Given the description of an element on the screen output the (x, y) to click on. 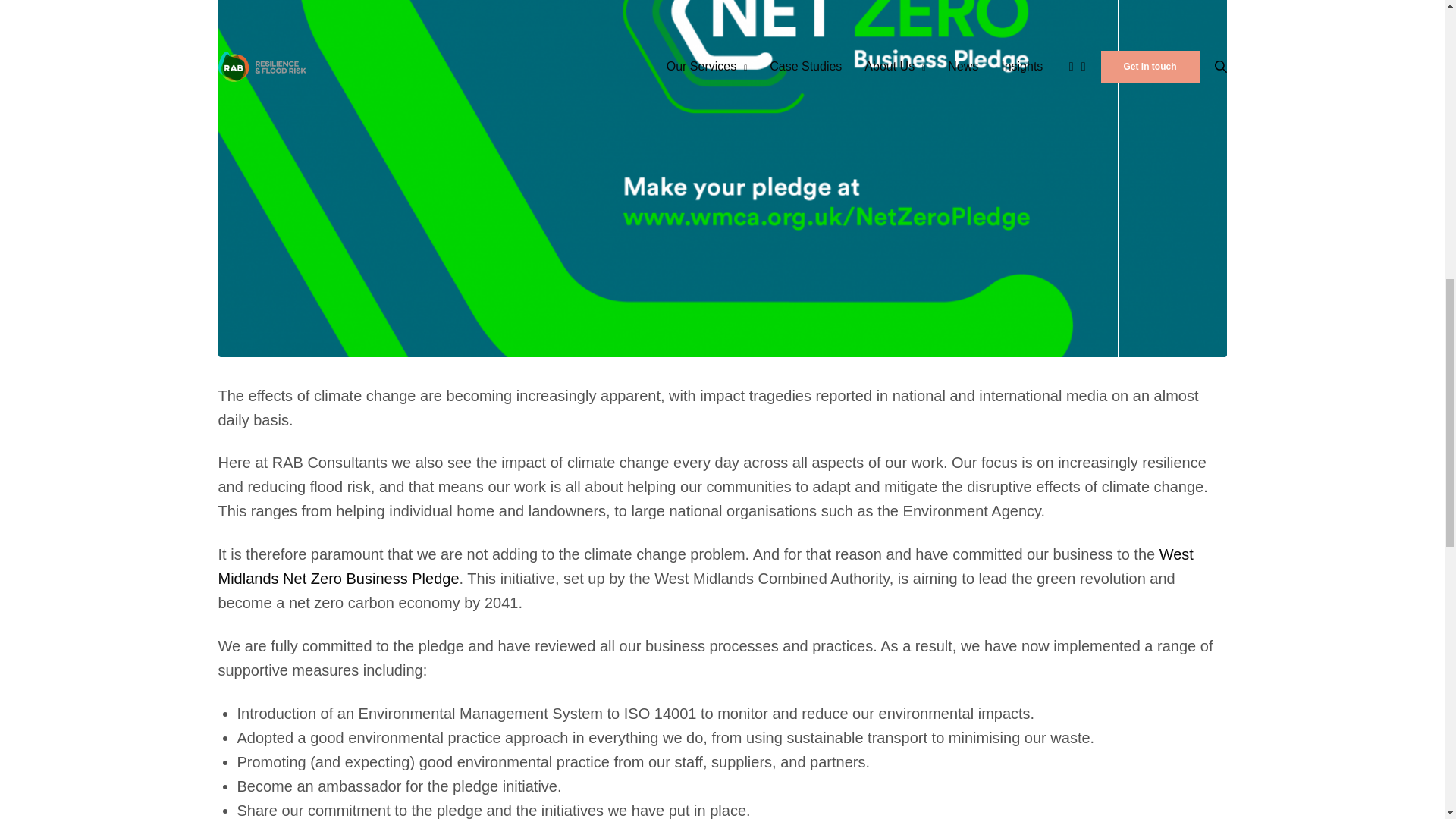
West Midlands Net Zero Business Pledge (705, 566)
Scroll To Top (1420, 25)
